Given the description of an element on the screen output the (x, y) to click on. 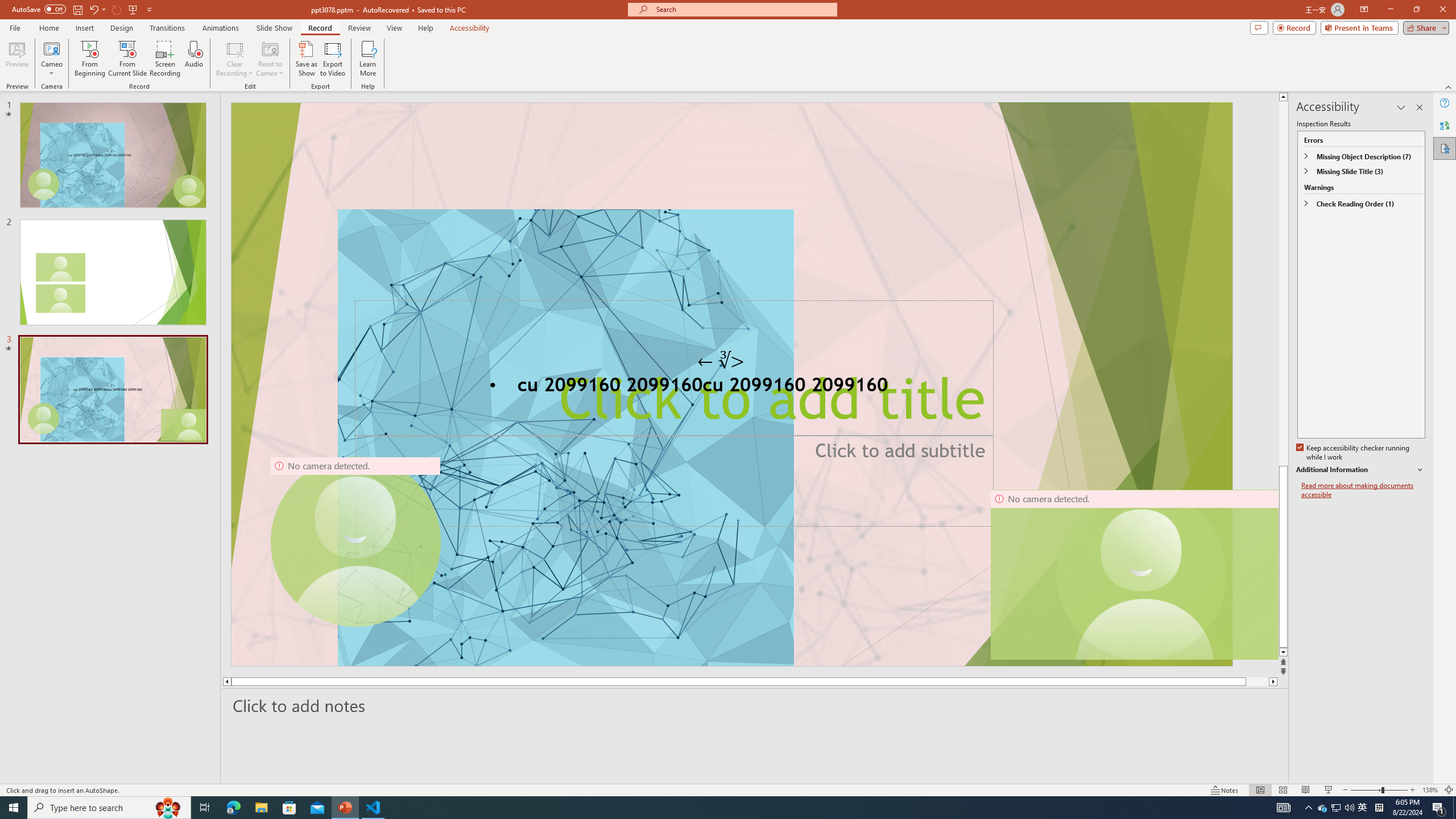
Slide Notes (755, 705)
Preview (17, 58)
Zoom 138% (1430, 790)
